Given the description of an element on the screen output the (x, y) to click on. 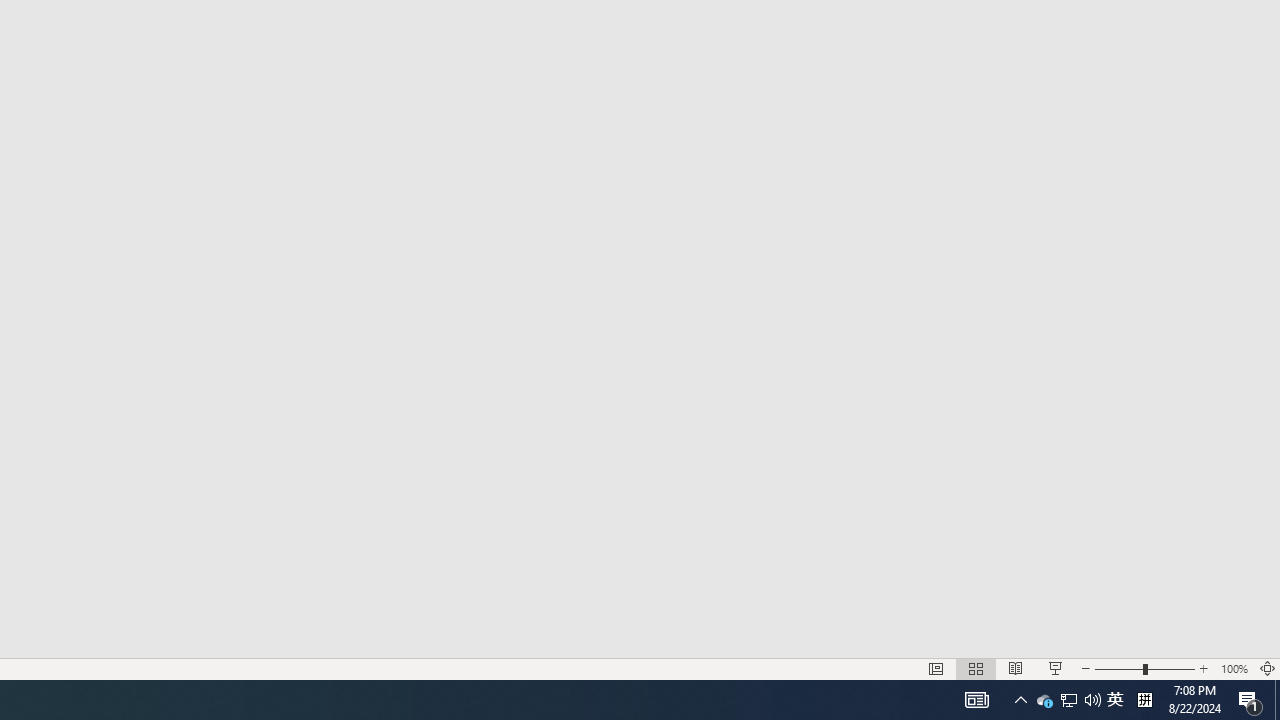
Zoom 100% (1234, 668)
